Given the description of an element on the screen output the (x, y) to click on. 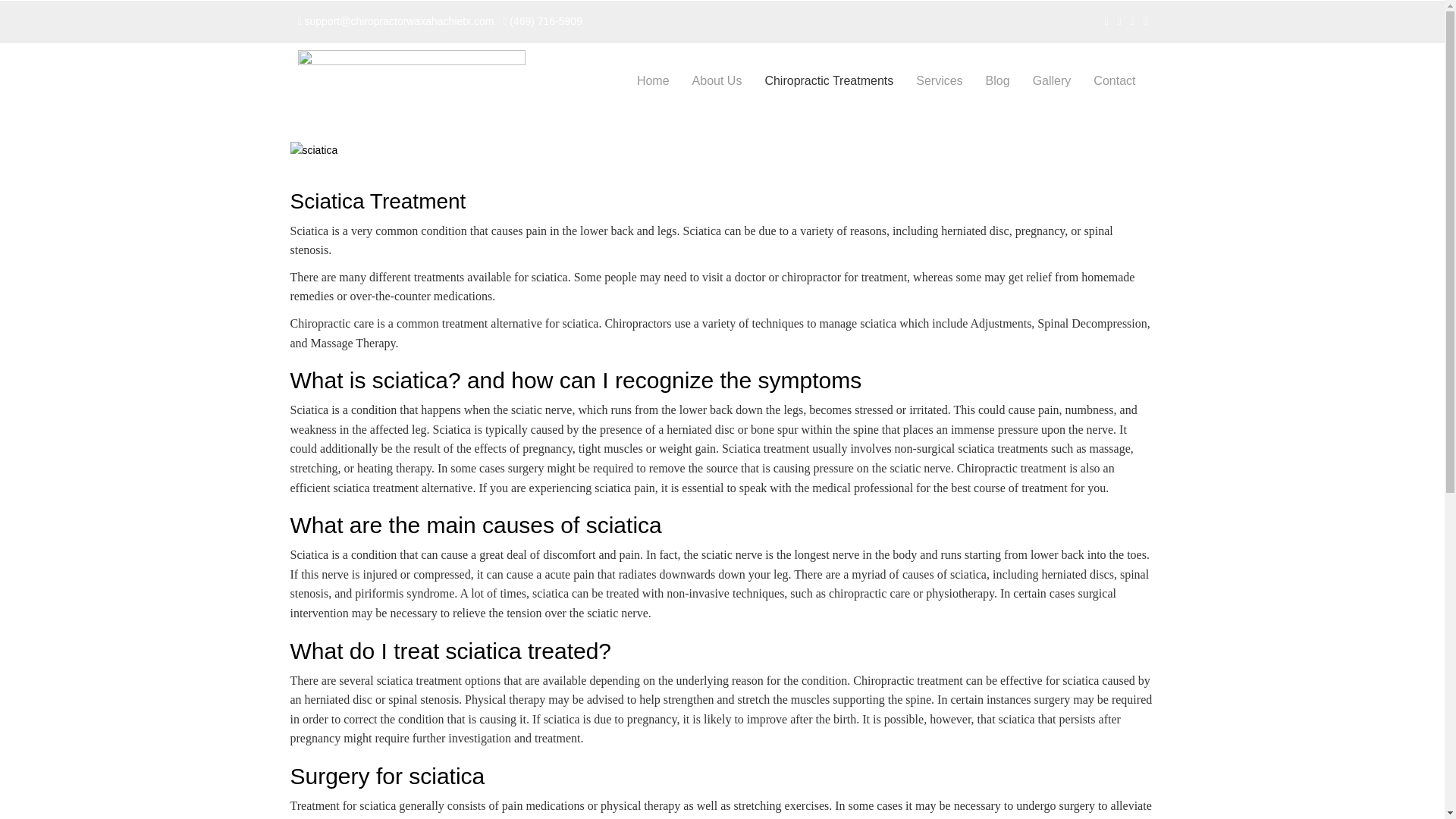
Follow us on Instagram (1144, 21)
Follow us on LinkedIn (1119, 21)
Follow us on Facebook (1106, 21)
Follow us on Twitter (1132, 21)
